Given the description of an element on the screen output the (x, y) to click on. 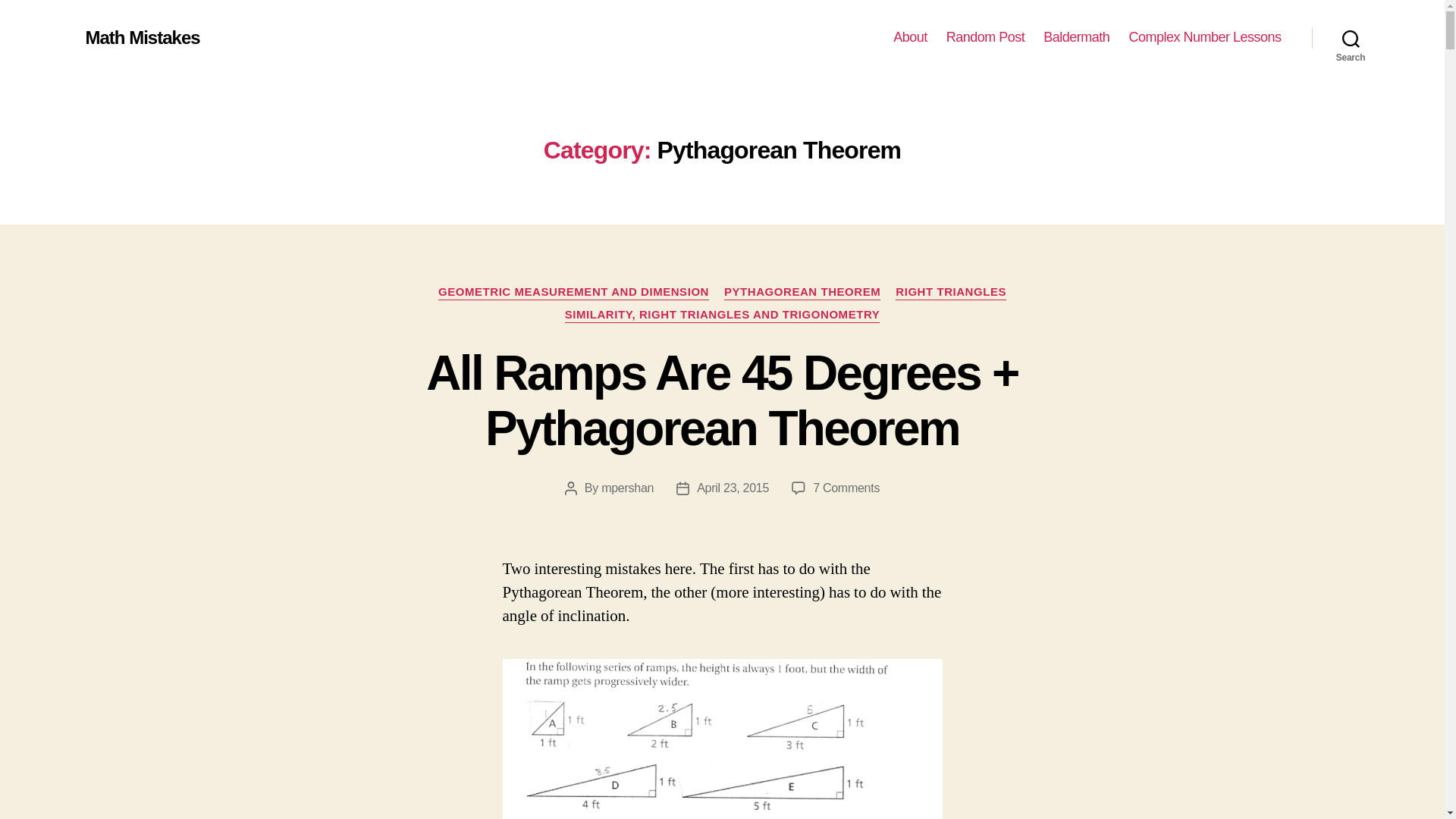
Search (1350, 37)
GEOMETRIC MEASUREMENT AND DIMENSION (573, 292)
RIGHT TRIANGLES (950, 292)
Complex Number Lessons (1204, 37)
SIMILARITY, RIGHT TRIANGLES AND TRIGONOMETRY (722, 314)
Baldermath (1076, 37)
PYTHAGOREAN THEOREM (801, 292)
Random Post (985, 37)
April 23, 2015 (732, 487)
About (910, 37)
mpershan (627, 487)
Math Mistakes (141, 37)
